Given the description of an element on the screen output the (x, y) to click on. 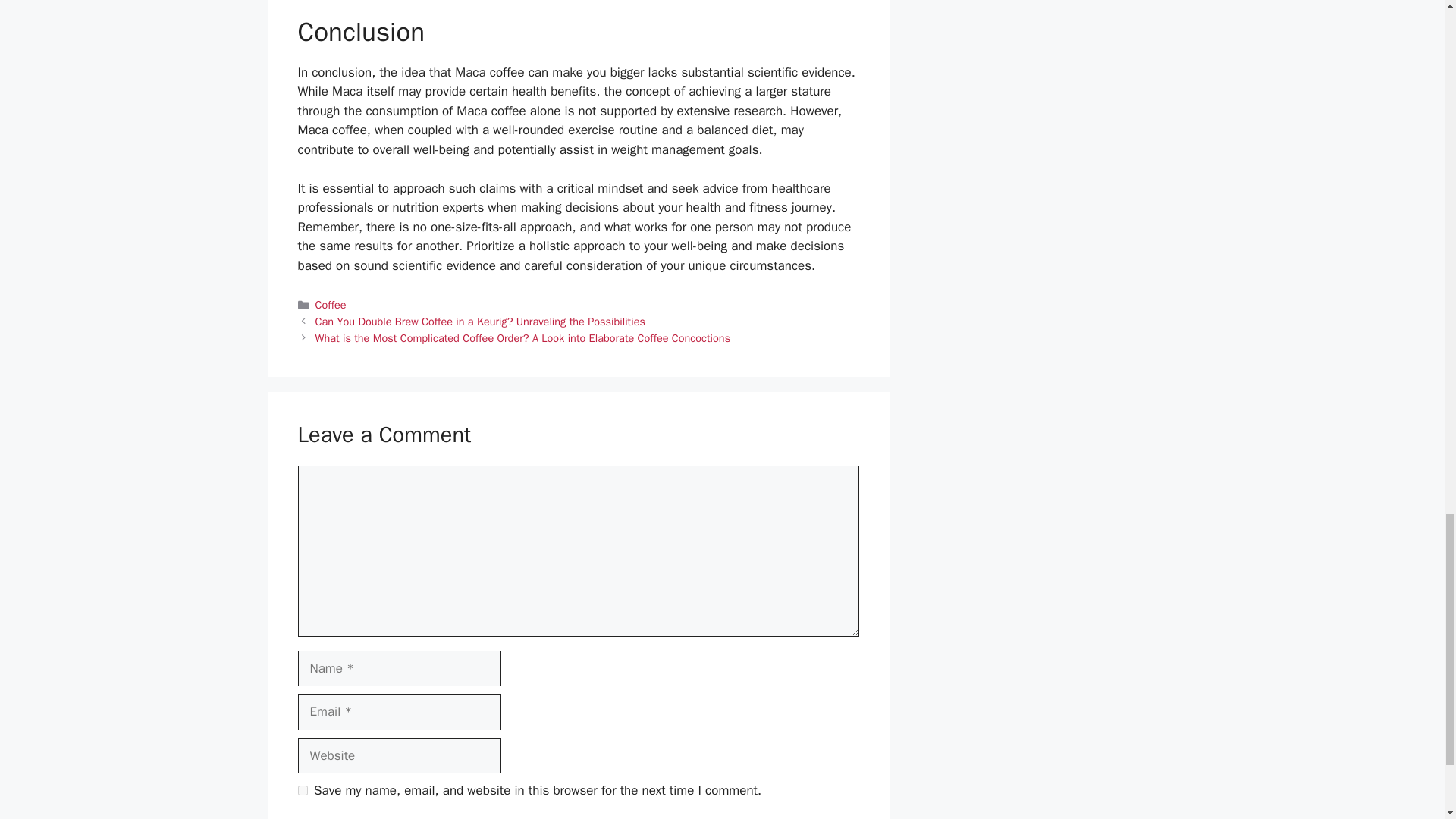
yes (302, 790)
Coffee (330, 305)
